Given the description of an element on the screen output the (x, y) to click on. 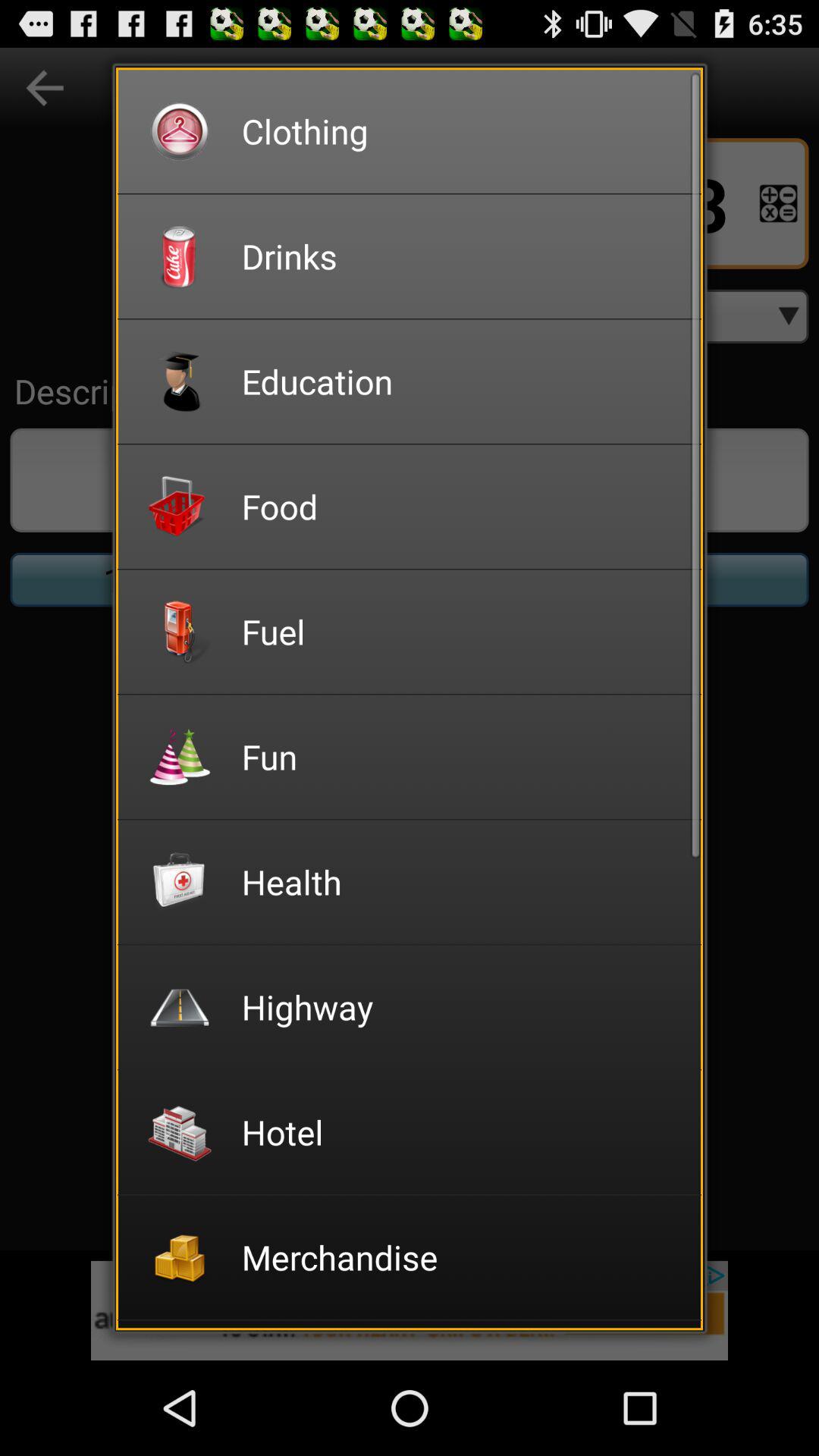
tap the highway icon (461, 1006)
